Given the description of an element on the screen output the (x, y) to click on. 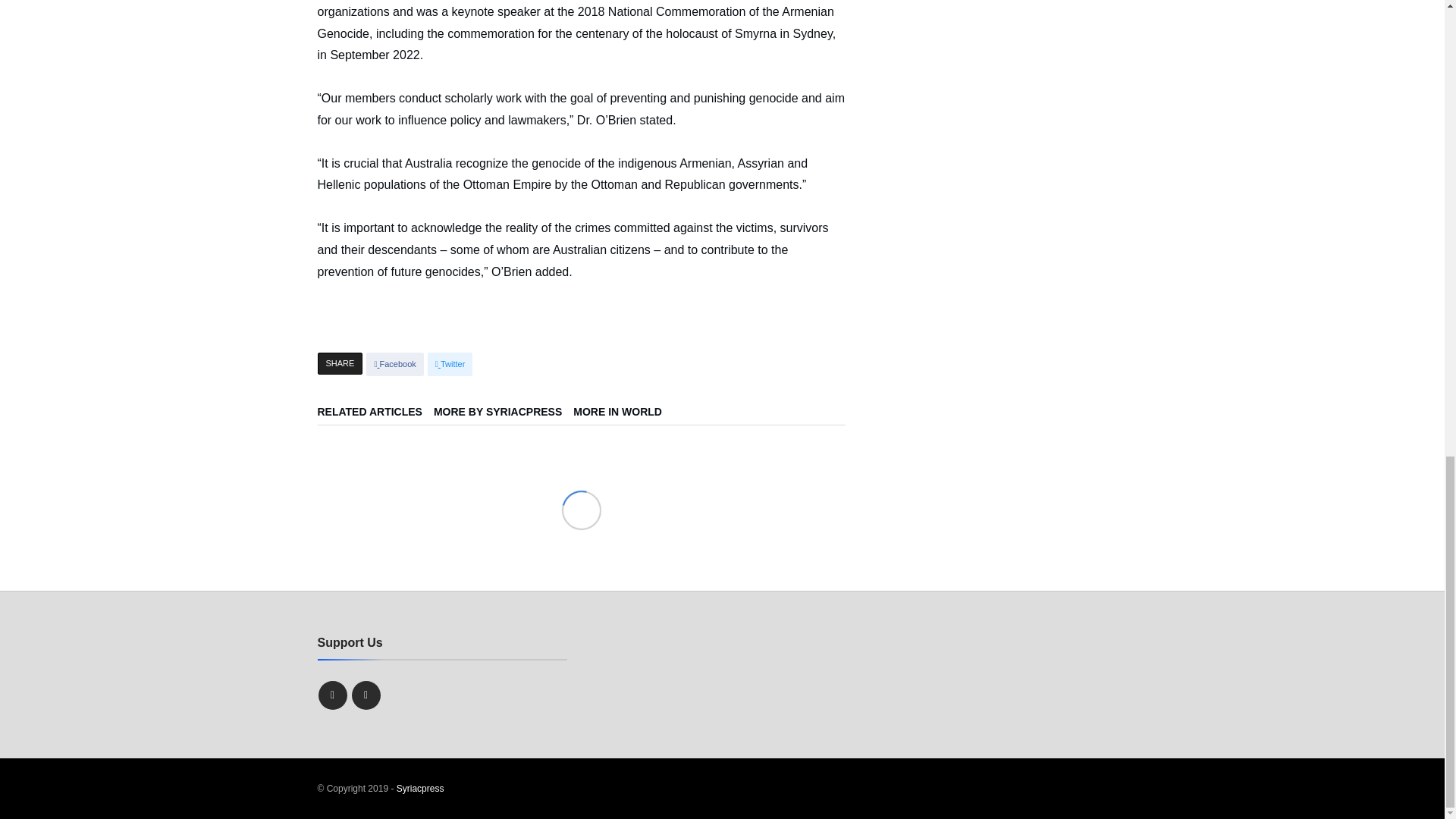
facebook (394, 363)
twitter (450, 363)
Facebook (394, 363)
MORE BY SYRIACPRESS (503, 415)
RELATED ARTICLES (374, 415)
Twitter (450, 363)
